Given the description of an element on the screen output the (x, y) to click on. 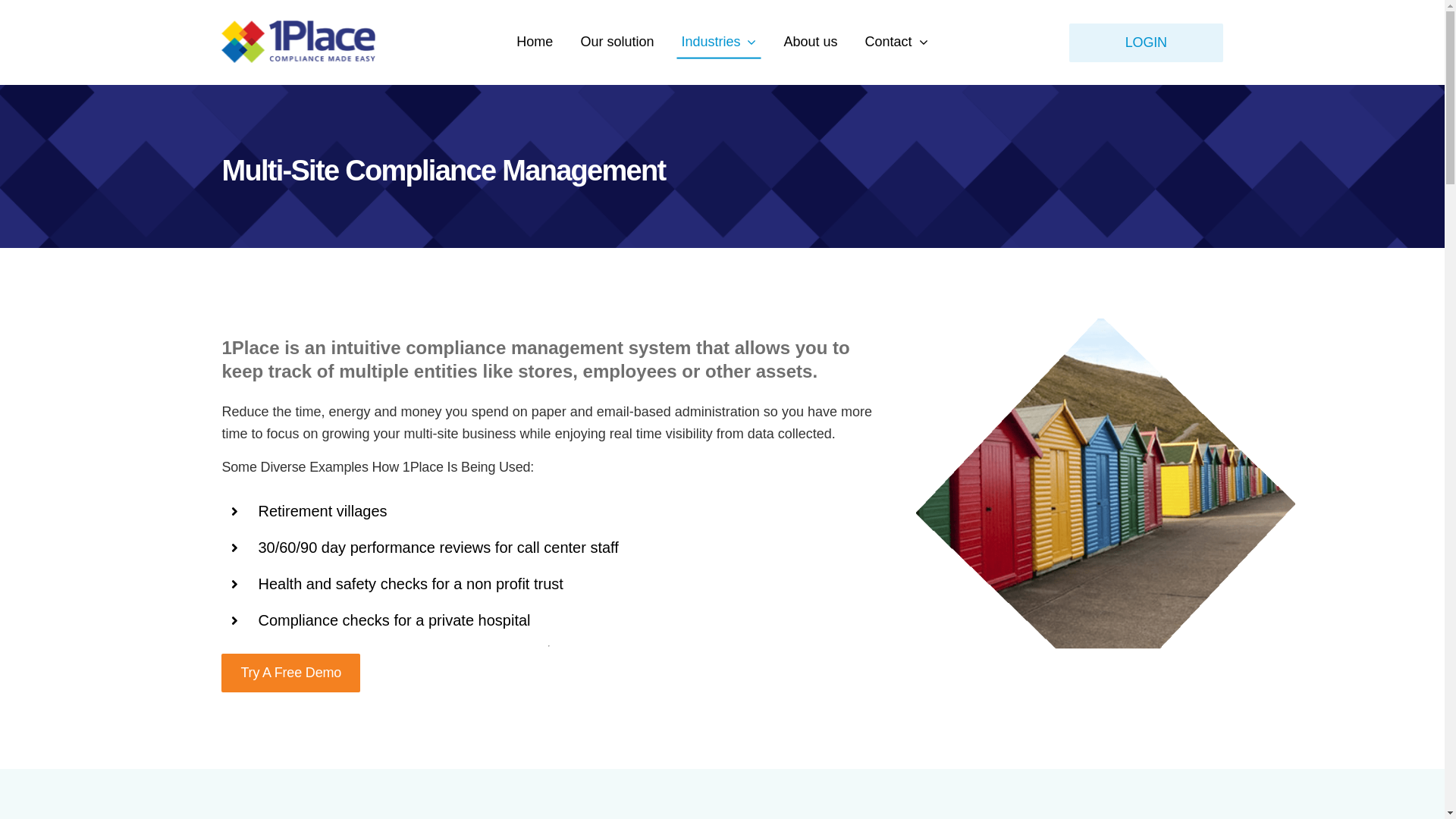
About us Element type: text (809, 42)
Industries Element type: text (718, 42)
Home Element type: text (534, 42)
Try A Free Demo Element type: text (290, 672)
LOGIN Element type: text (1145, 41)
Contact Element type: text (896, 42)
Our solution Element type: text (616, 42)
Multisite-image Element type: hover (1105, 507)
